Given the description of an element on the screen output the (x, y) to click on. 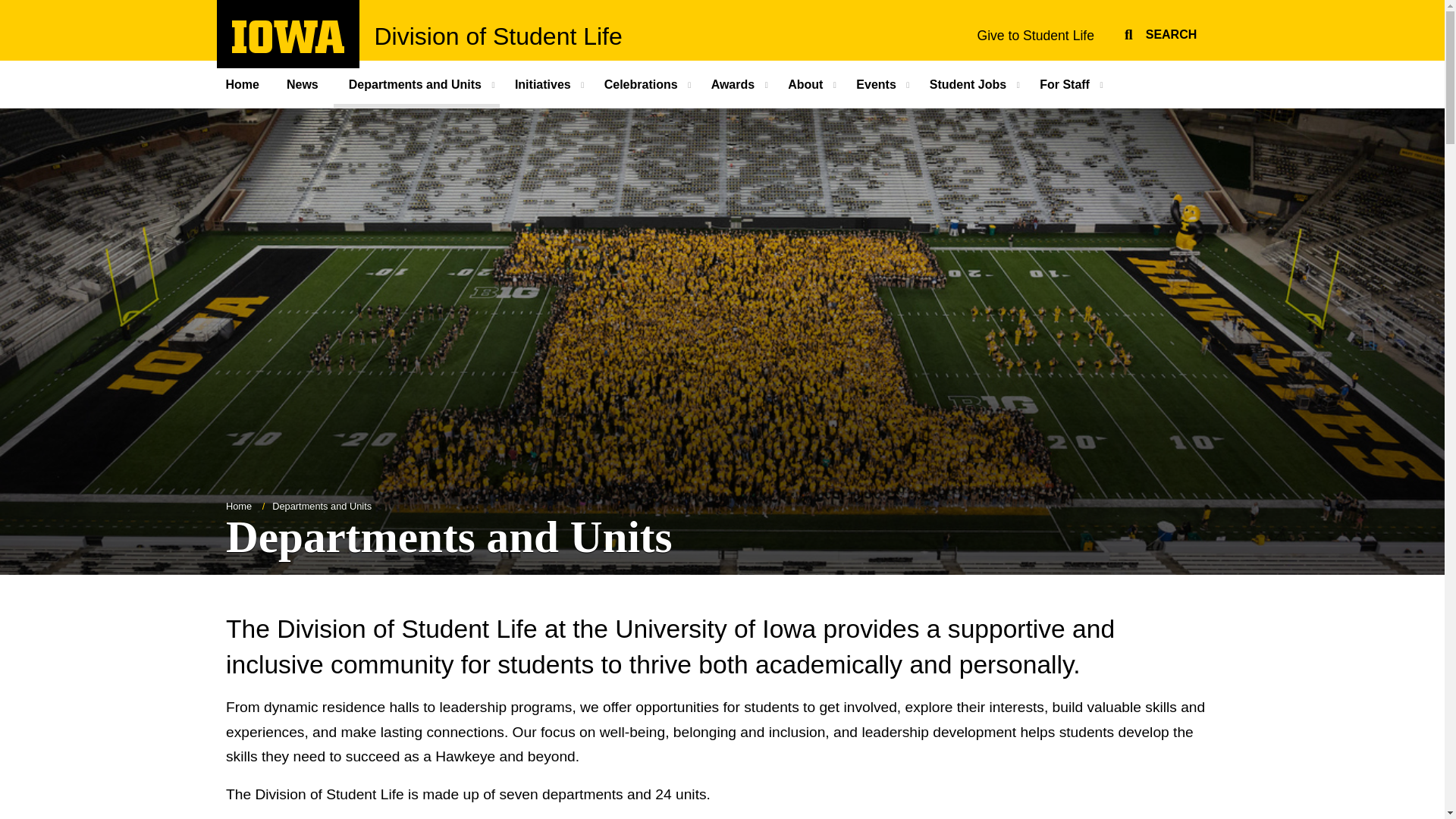
Departments and Units (416, 83)
SEARCH (288, 48)
Skip to main content (1157, 32)
Home (7, 7)
News (250, 83)
Give to Student Life (304, 83)
University of Iowa (1034, 34)
Celebrations (288, 36)
Initiatives (642, 83)
Division of Student Life (544, 83)
